Given the description of an element on the screen output the (x, y) to click on. 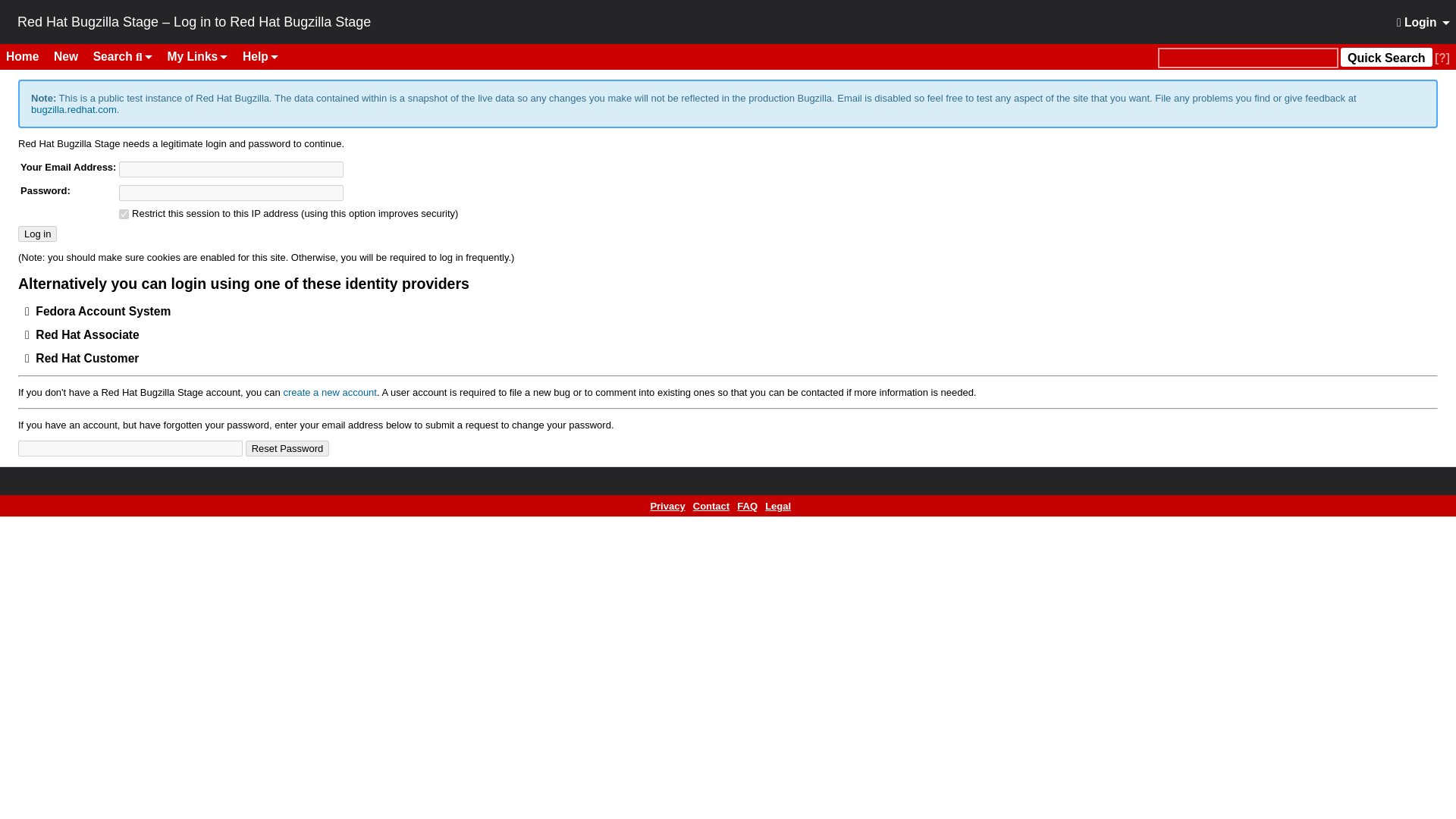
Reset Password (288, 448)
Search (122, 56)
Help (259, 56)
Quick Search (1247, 57)
on (124, 214)
New (72, 56)
Log in (36, 233)
Home (28, 56)
My Links (197, 56)
Quick Search (1386, 56)
